Given the description of an element on the screen output the (x, y) to click on. 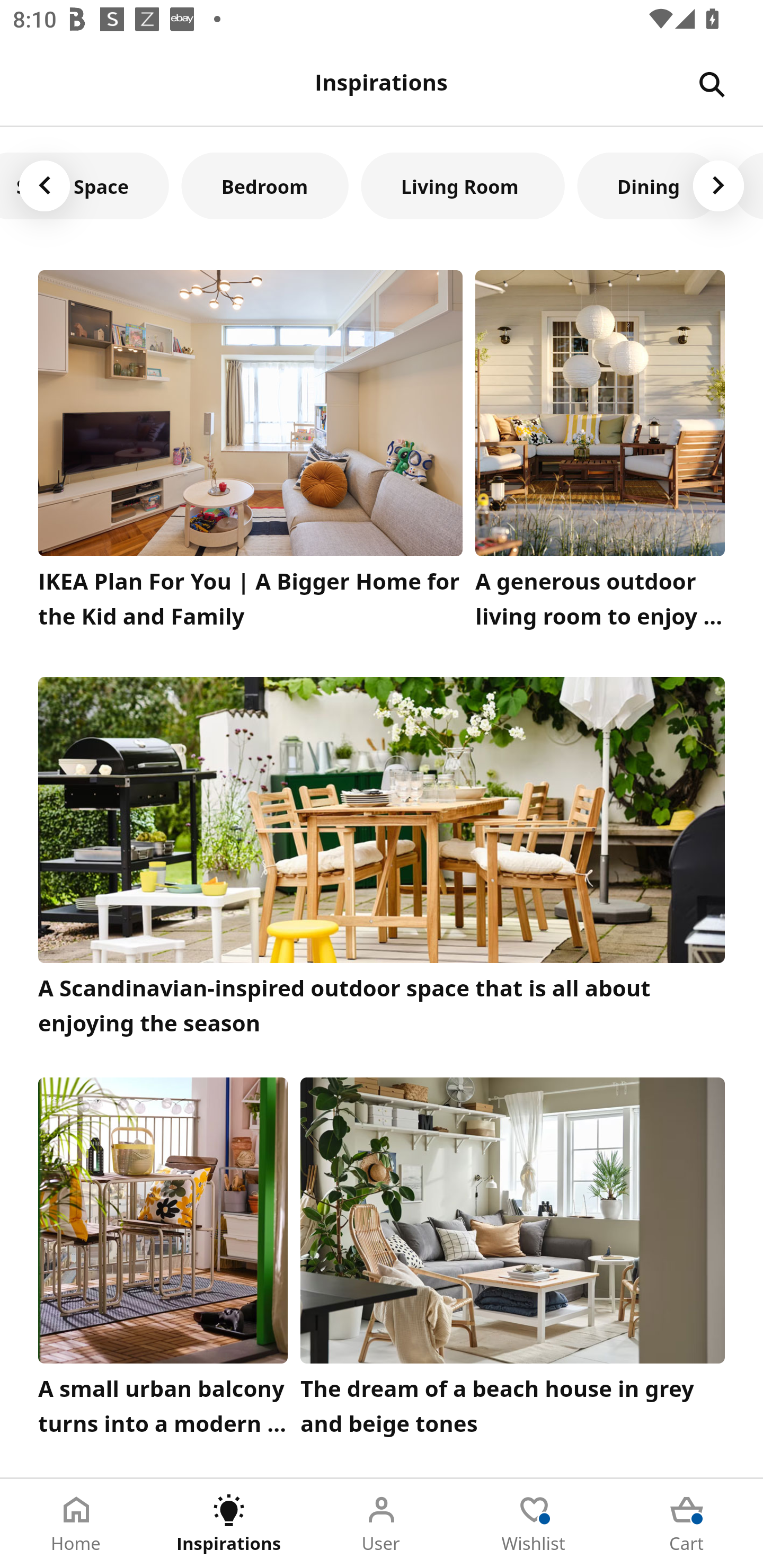
Bedroom (264, 185)
Living Room  (462, 185)
Dining (648, 185)
The dream of a beach house in grey and beige tones (512, 1261)
Home
Tab 1 of 5 (76, 1522)
Inspirations
Tab 2 of 5 (228, 1522)
User
Tab 3 of 5 (381, 1522)
Wishlist
Tab 4 of 5 (533, 1522)
Cart
Tab 5 of 5 (686, 1522)
